Given the description of an element on the screen output the (x, y) to click on. 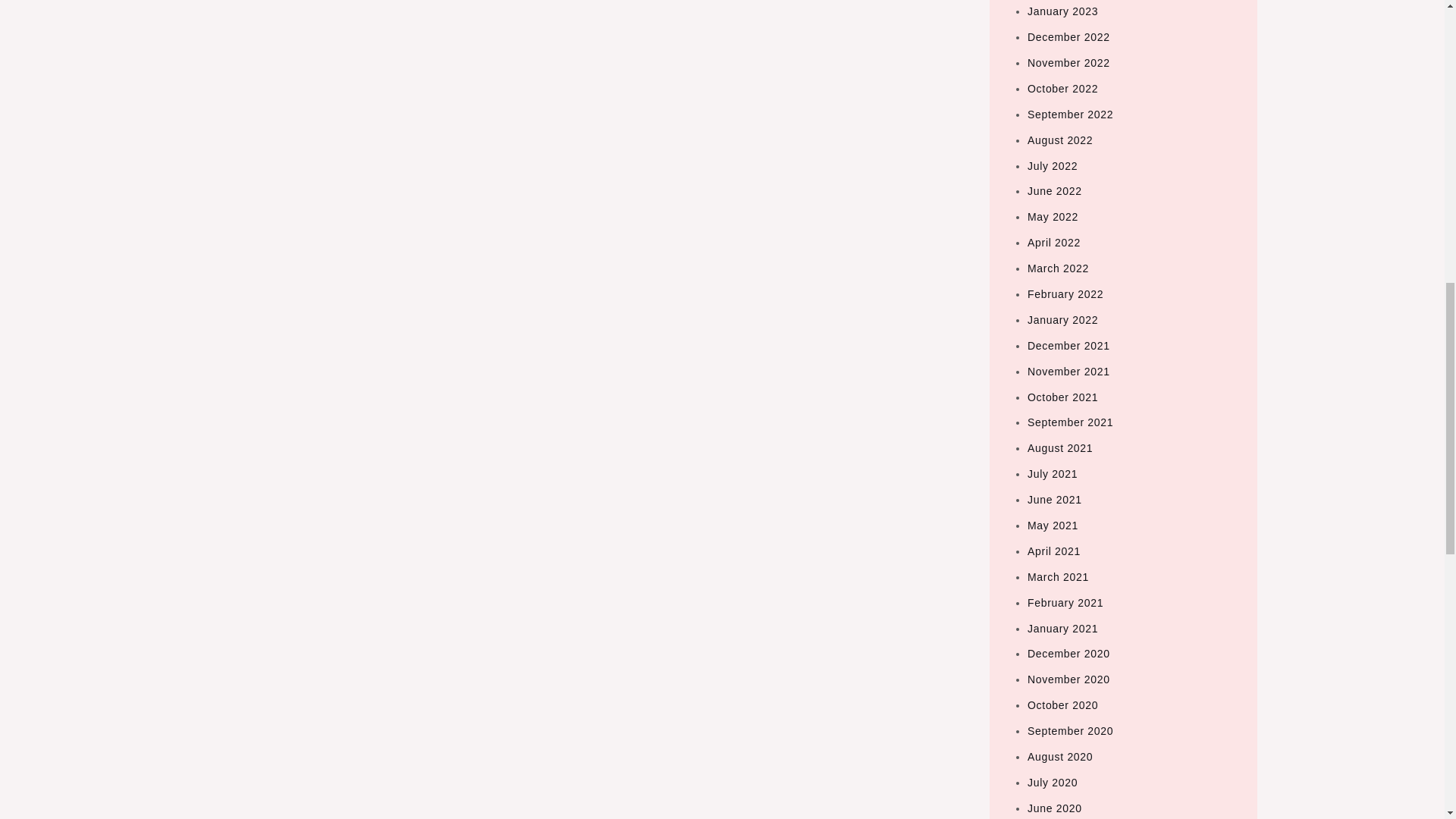
December 2021 (1068, 345)
June 2022 (1054, 191)
October 2022 (1062, 88)
February 2022 (1065, 294)
April 2022 (1053, 242)
May 2022 (1052, 216)
August 2021 (1060, 448)
March 2022 (1058, 268)
September 2021 (1070, 422)
December 2022 (1068, 37)
October 2021 (1062, 397)
September 2022 (1070, 114)
January 2023 (1062, 10)
November 2022 (1068, 62)
July 2022 (1052, 165)
